Given the description of an element on the screen output the (x, y) to click on. 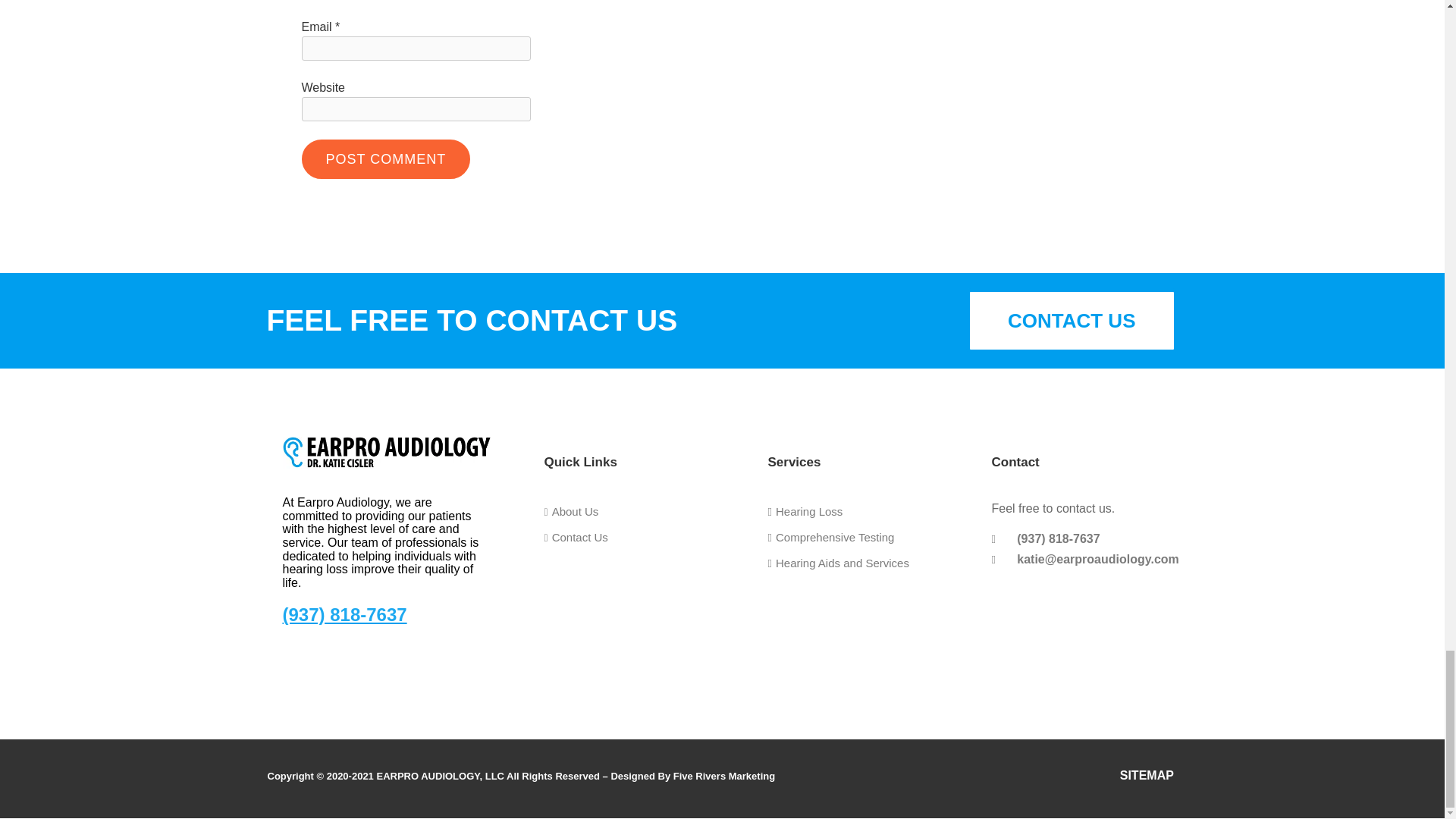
Post Comment (385, 159)
Post Comment (385, 159)
About Us (571, 511)
CONTACT US (1071, 320)
Contact Us (576, 537)
